Given the description of an element on the screen output the (x, y) to click on. 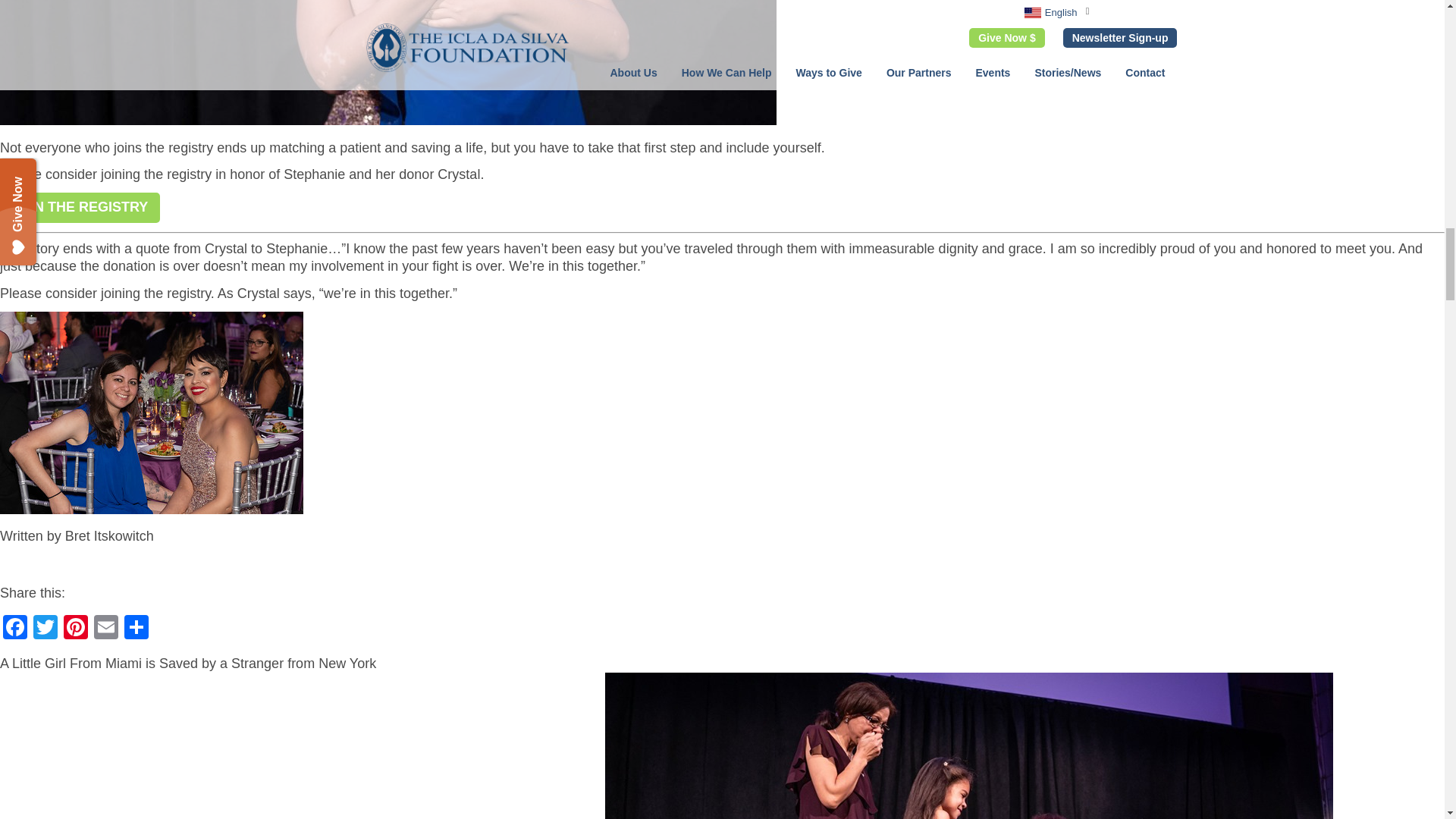
Twitter (45, 628)
Pinterest (75, 628)
Email (105, 628)
Facebook (15, 628)
